Given the description of an element on the screen output the (x, y) to click on. 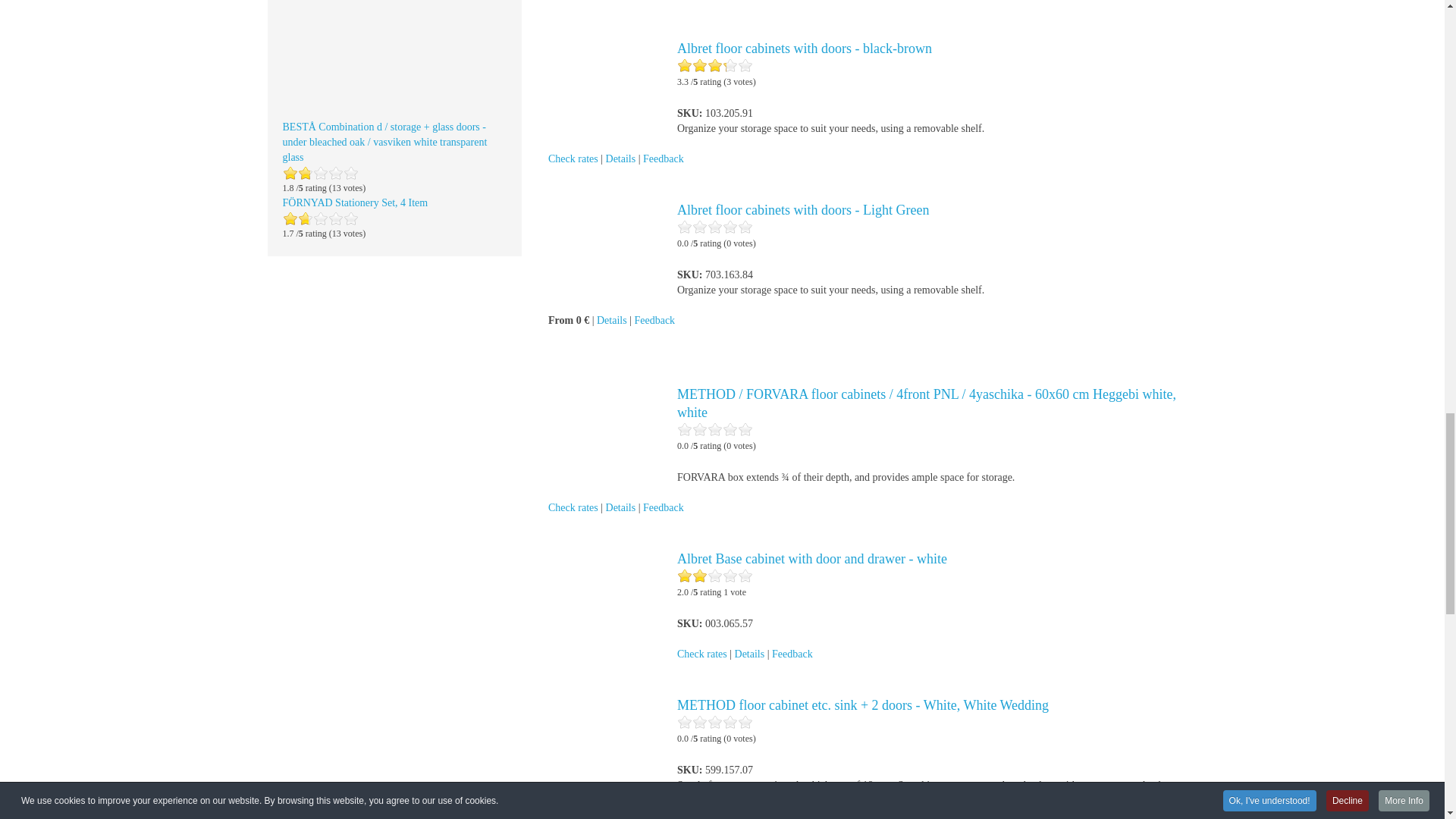
Albret floor cabinets with doors - black-brown (804, 48)
Albret floor cabinets with doors - black-brown (605, 75)
Albret floor cabinets with doors - black-brown (605, 77)
